Given the description of an element on the screen output the (x, y) to click on. 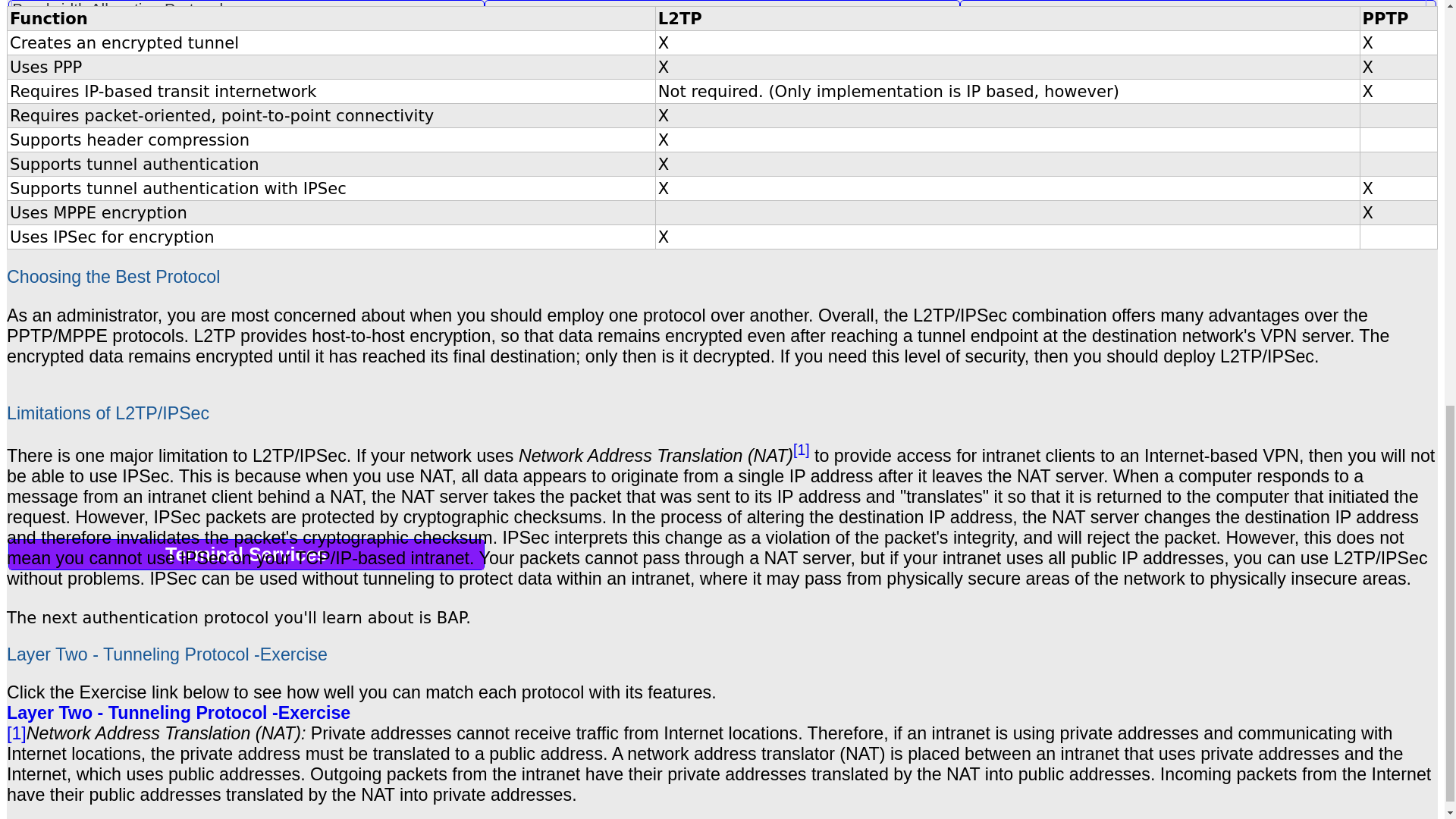
Dialup Connections (718, 65)
Remote Protocols Conclusion (718, 27)
Disaster Recovery (245, 16)
Routing RAS (718, 46)
Install Windows (721, 16)
Terminal Services (245, 554)
Bandwidth Allocation Protocol (718, 9)
